Given the description of an element on the screen output the (x, y) to click on. 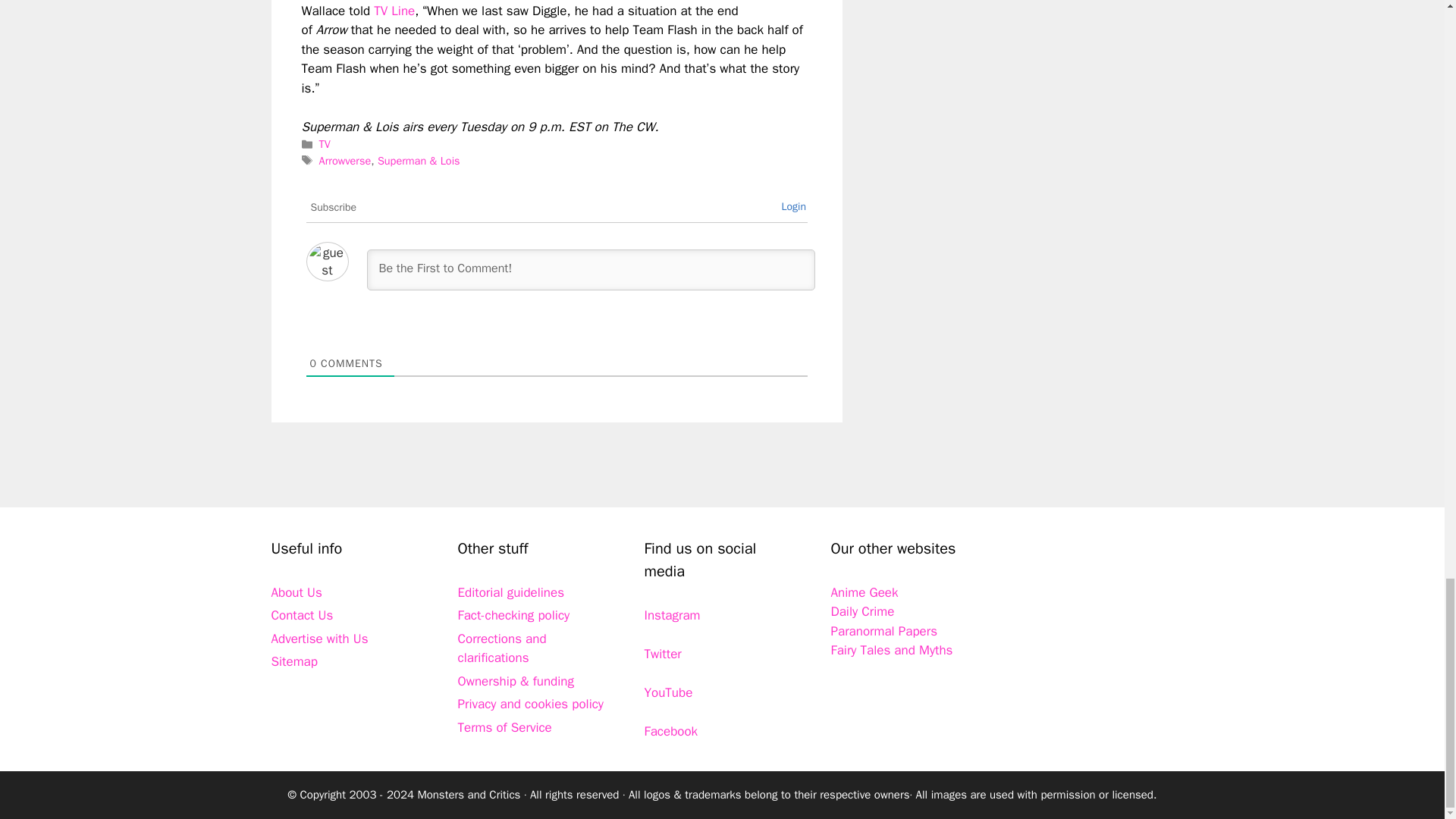
Sitemap (293, 661)
Twitter (663, 653)
Terms of Service (504, 727)
Corrections and clarifications (502, 648)
Login (793, 205)
Privacy and cookies policy (531, 703)
Facebook (671, 731)
Contact Us (301, 615)
Fact-checking policy (514, 615)
YouTube (669, 692)
Advertise with Us (319, 638)
TV Line (394, 10)
Arrowverse (344, 160)
Editorial guidelines (511, 592)
About Us (295, 592)
